Given the description of an element on the screen output the (x, y) to click on. 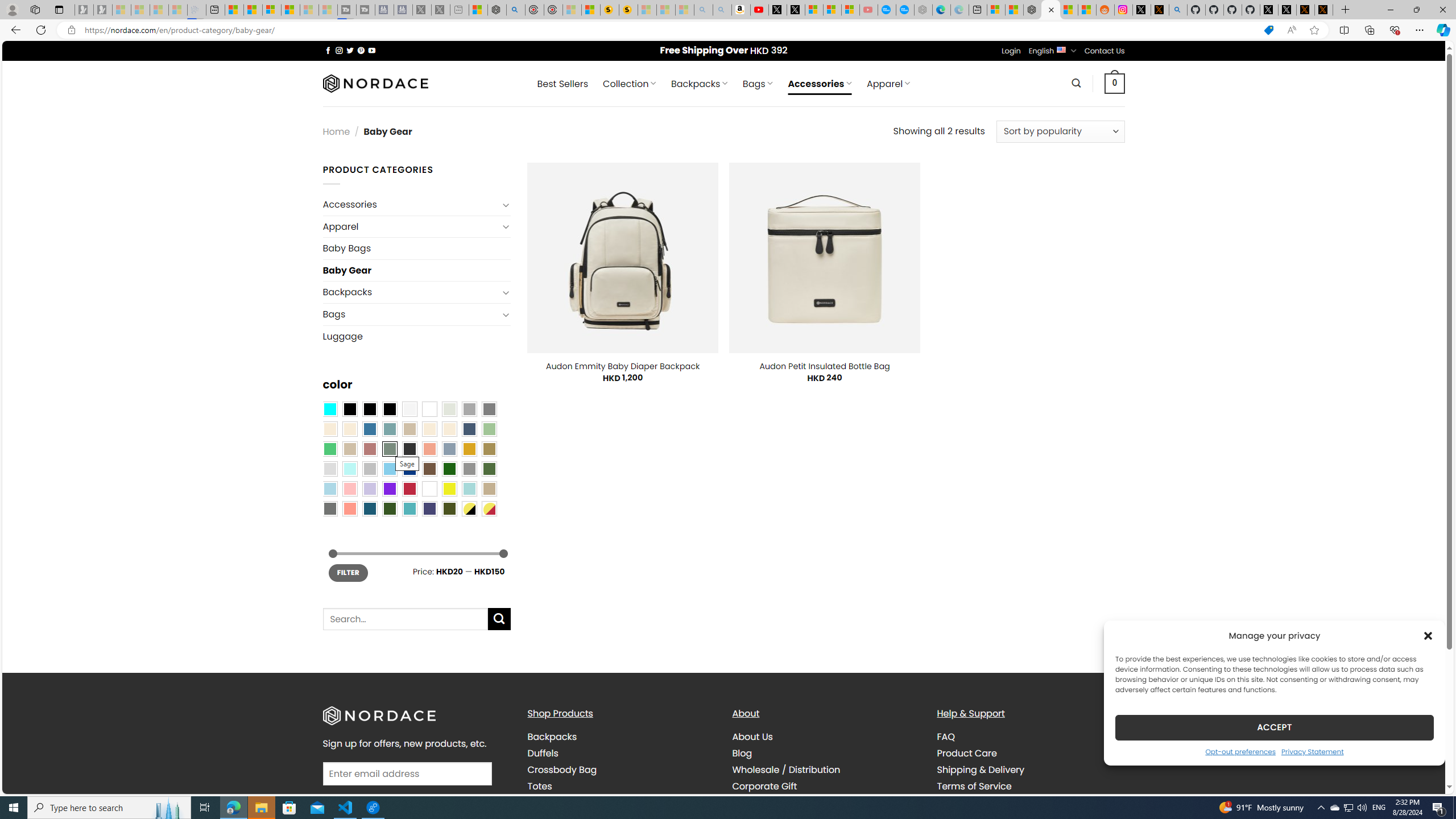
Shop order (1060, 131)
Blog (826, 753)
Wholesale / Distribution (826, 769)
Audon Emmity Baby Diaper Backpack (623, 365)
AutomationID: field_4_1 (406, 774)
Apparel (410, 226)
FILTER (347, 572)
Baby Bags (416, 248)
